Given the description of an element on the screen output the (x, y) to click on. 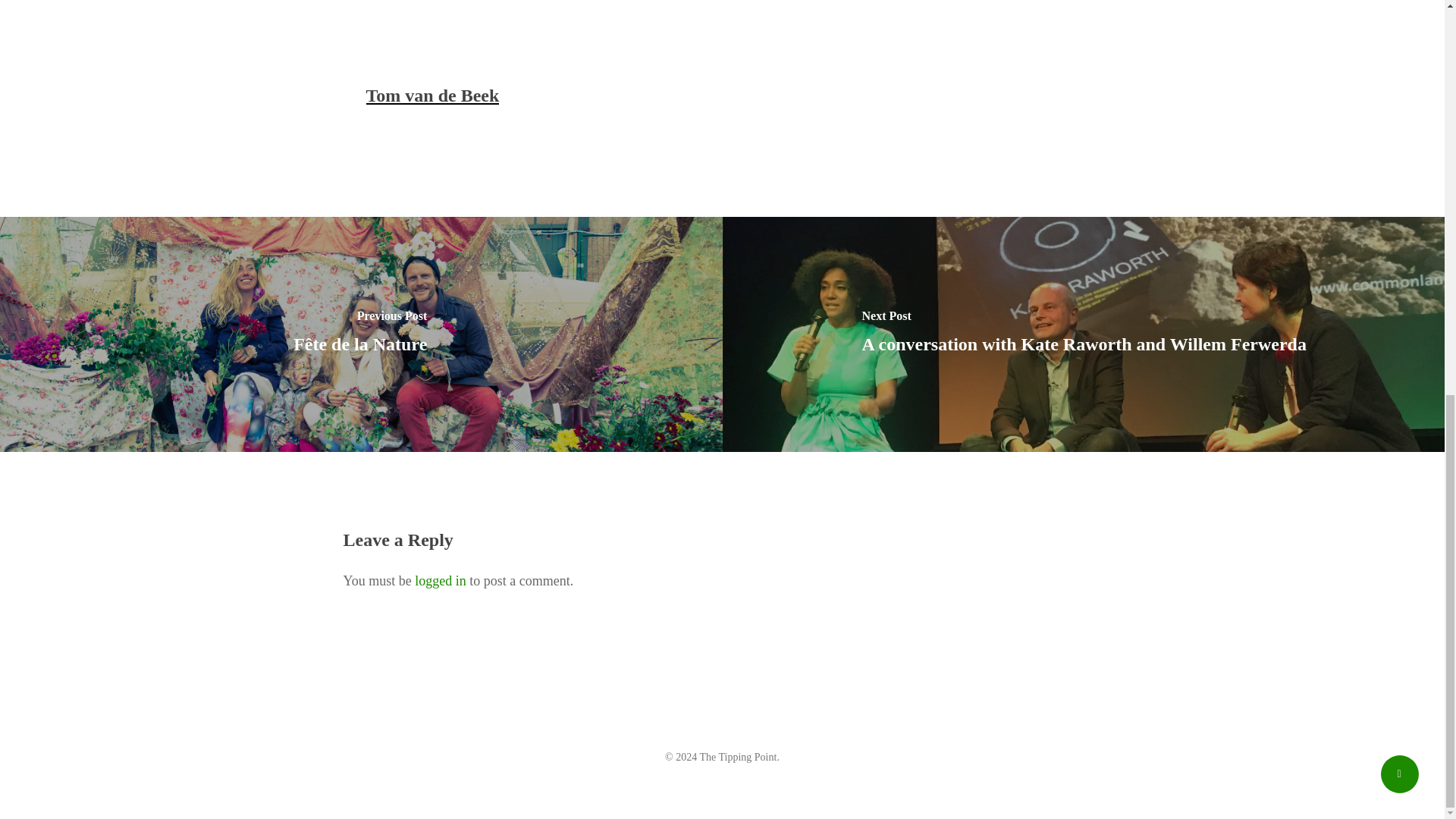
logged in (439, 580)
Tom van de Beek (432, 95)
